Given the description of an element on the screen output the (x, y) to click on. 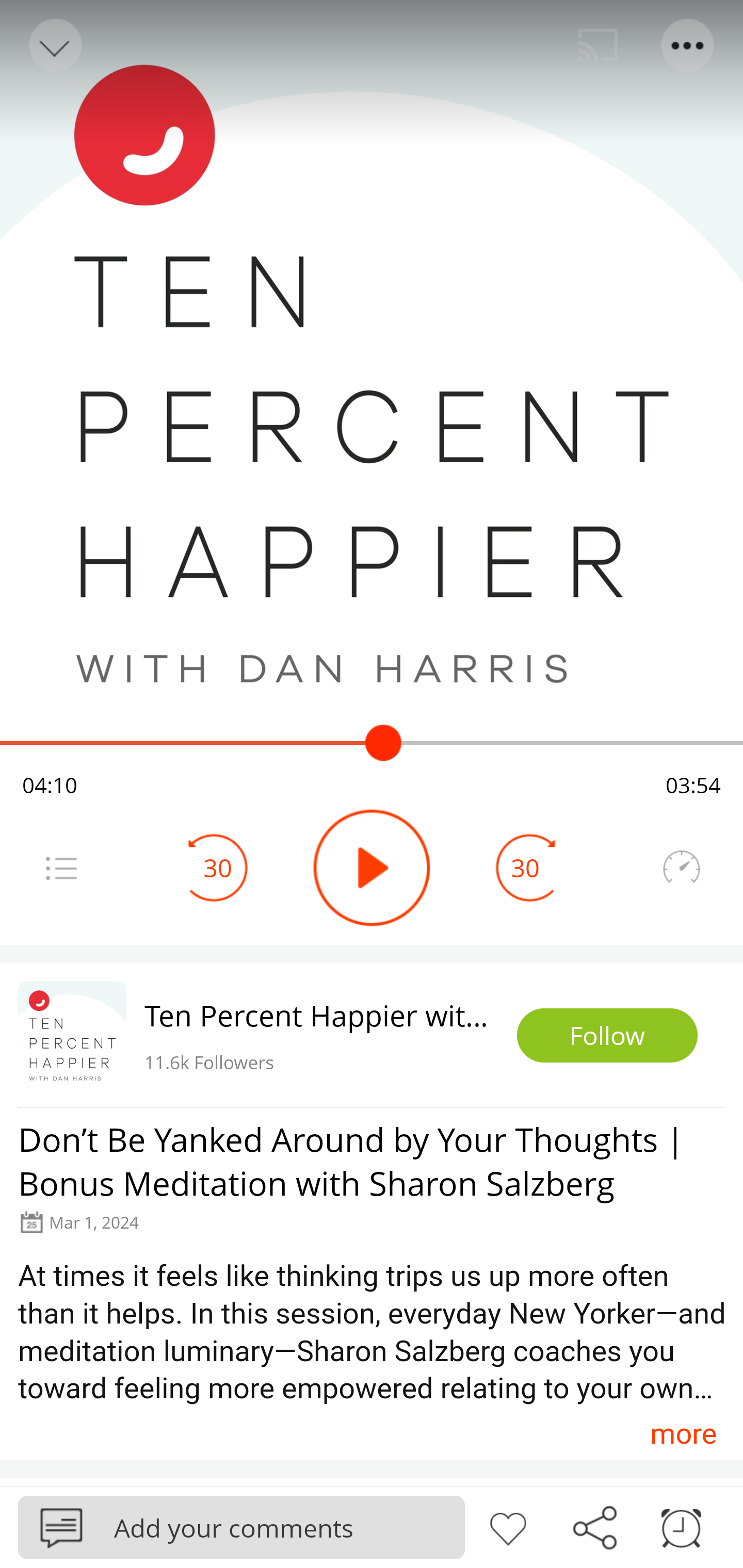
Back (53, 45)
Cast. Disconnected (597, 45)
Menu (688, 45)
Play (371, 867)
30 Seek Backward (217, 867)
30 Seek Forward (525, 867)
Menu (60, 867)
Speedometer (681, 867)
Follow (607, 1035)
more (682, 1432)
Like (508, 1526)
Share (594, 1526)
Sleep timer (681, 1526)
Podbean Add your comments (241, 1526)
